Given the description of an element on the screen output the (x, y) to click on. 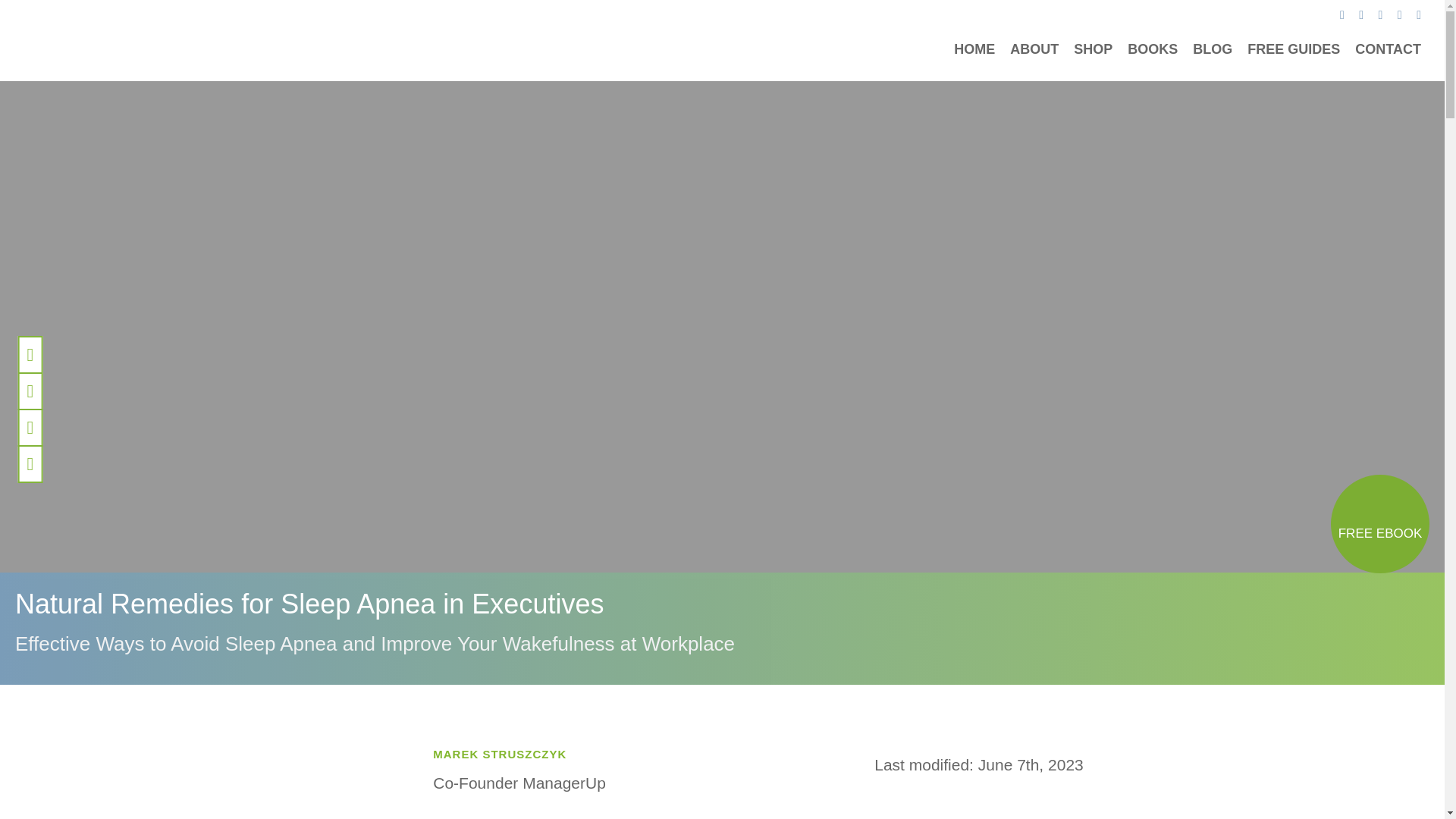
ABOUT (1034, 48)
HOME (973, 48)
BLOG (1211, 48)
About (1034, 48)
Shop (1093, 48)
Books (1151, 48)
SHOP (1093, 48)
Home (973, 48)
BOOKS (1151, 48)
